Given the description of an element on the screen output the (x, y) to click on. 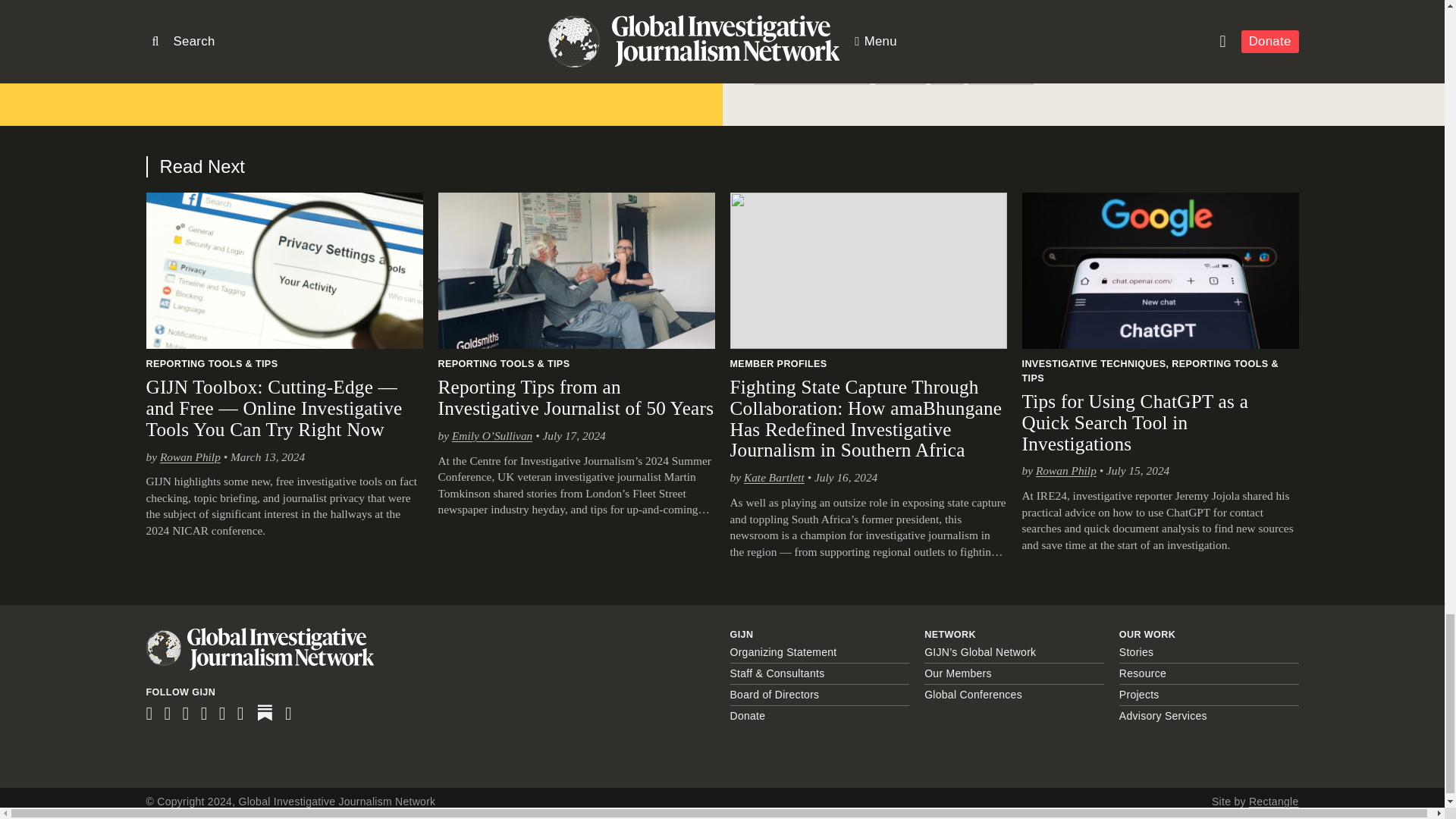
Read other stories tagged with Kimono web-scraping (811, 75)
Read other stories tagged with IRE15 (1248, 53)
Read other stories tagged with auto safety (888, 53)
Read other stories tagged with Hipchat: Online Sharing (1158, 53)
Read other stories tagged with Facebook Friends (975, 53)
Read other stories tagged with Advanced Google (801, 53)
Read other stories tagged with SafeCar (900, 75)
Read other stories tagged with SEC (946, 75)
